Given the description of an element on the screen output the (x, y) to click on. 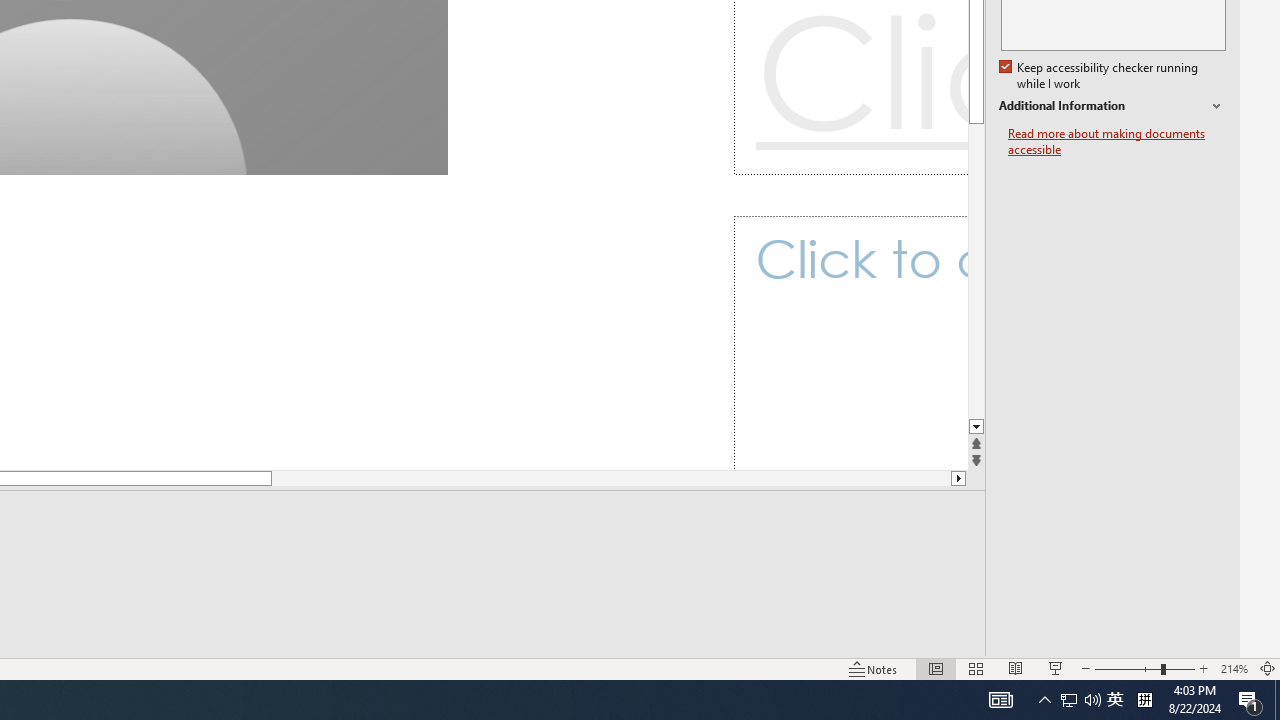
Class: NetUIImage (807, 96)
Options... (1203, 590)
Web Layout (984, 640)
Class: NetUIButton (1119, 592)
Terms & Conditions (918, 25)
Read Mode (864, 640)
Line down (1261, 88)
MathType (1004, 97)
